Given the description of an element on the screen output the (x, y) to click on. 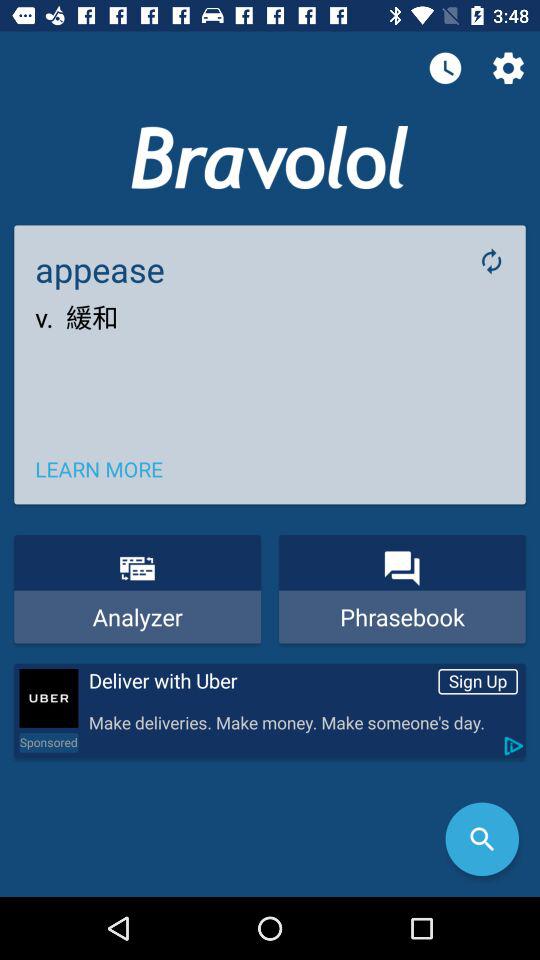
turn off icon next to the make deliveries make item (48, 742)
